Given the description of an element on the screen output the (x, y) to click on. 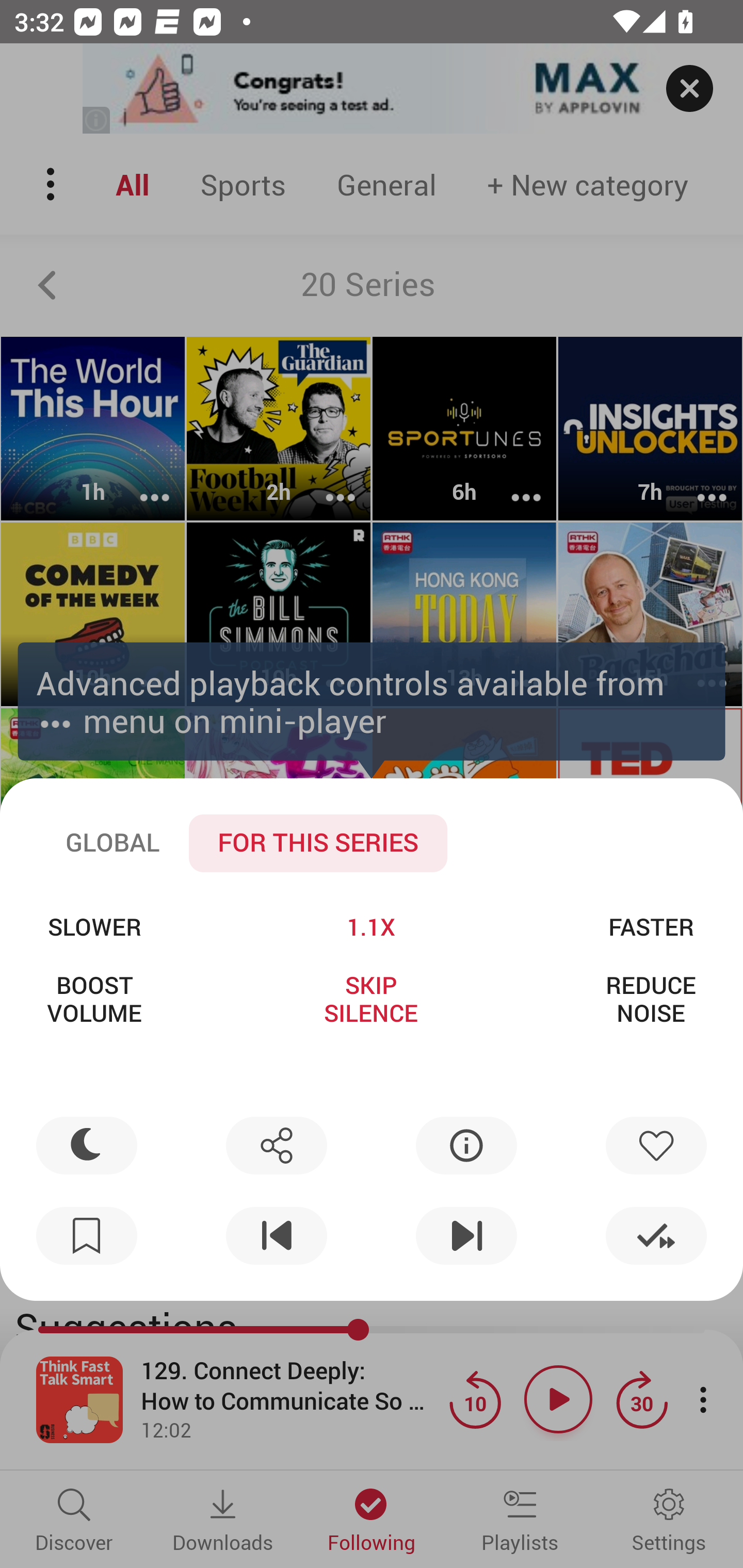
GLOBAL (112, 842)
FOR THIS SERIES (317, 842)
SLOWER (94, 926)
1.1X (370, 926)
FASTER (650, 926)
BOOST
VOLUME (94, 998)
SKIP
SILENCE (370, 998)
REDUCE
NOISE (650, 998)
Sleep timer (86, 1145)
Share (275, 1145)
Info (466, 1145)
Like (655, 1145)
New bookmark … (86, 1236)
Previous (275, 1236)
Next (466, 1236)
Mark played and next (655, 1236)
